Given the description of an element on the screen output the (x, y) to click on. 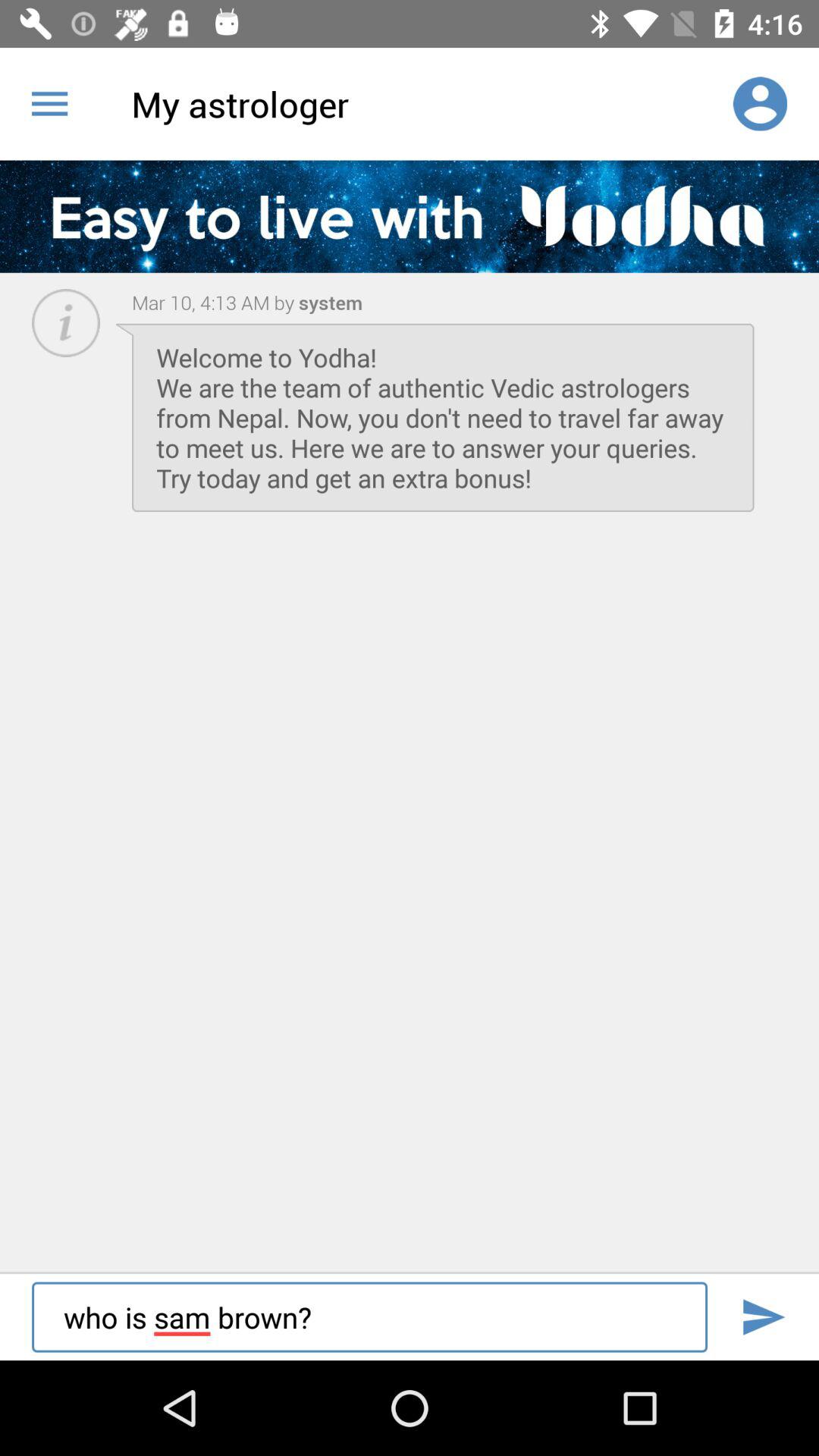
open the item to the right of mar 10 4 item (328, 301)
